Given the description of an element on the screen output the (x, y) to click on. 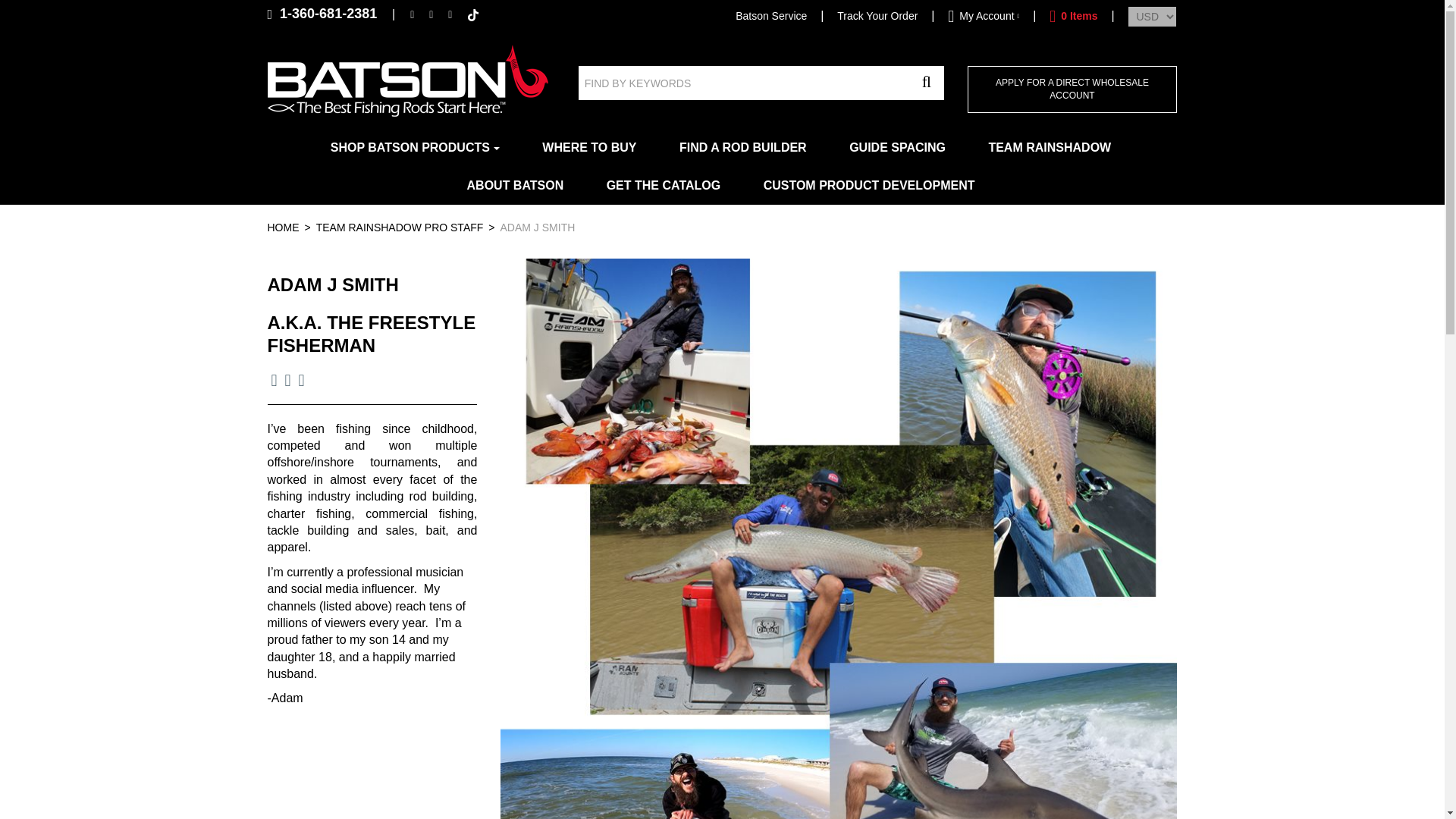
Batson Service (770, 15)
1-360-681-2381 (321, 13)
Track Your Order (877, 15)
SHOP BATSON PRODUCTS (414, 147)
Tiktok (473, 13)
APPLY FOR A DIRECT WHOLESALE ACCOUNT (1072, 89)
My Account (983, 15)
Batson Enterprises, Inc. (406, 81)
